Given the description of an element on the screen output the (x, y) to click on. 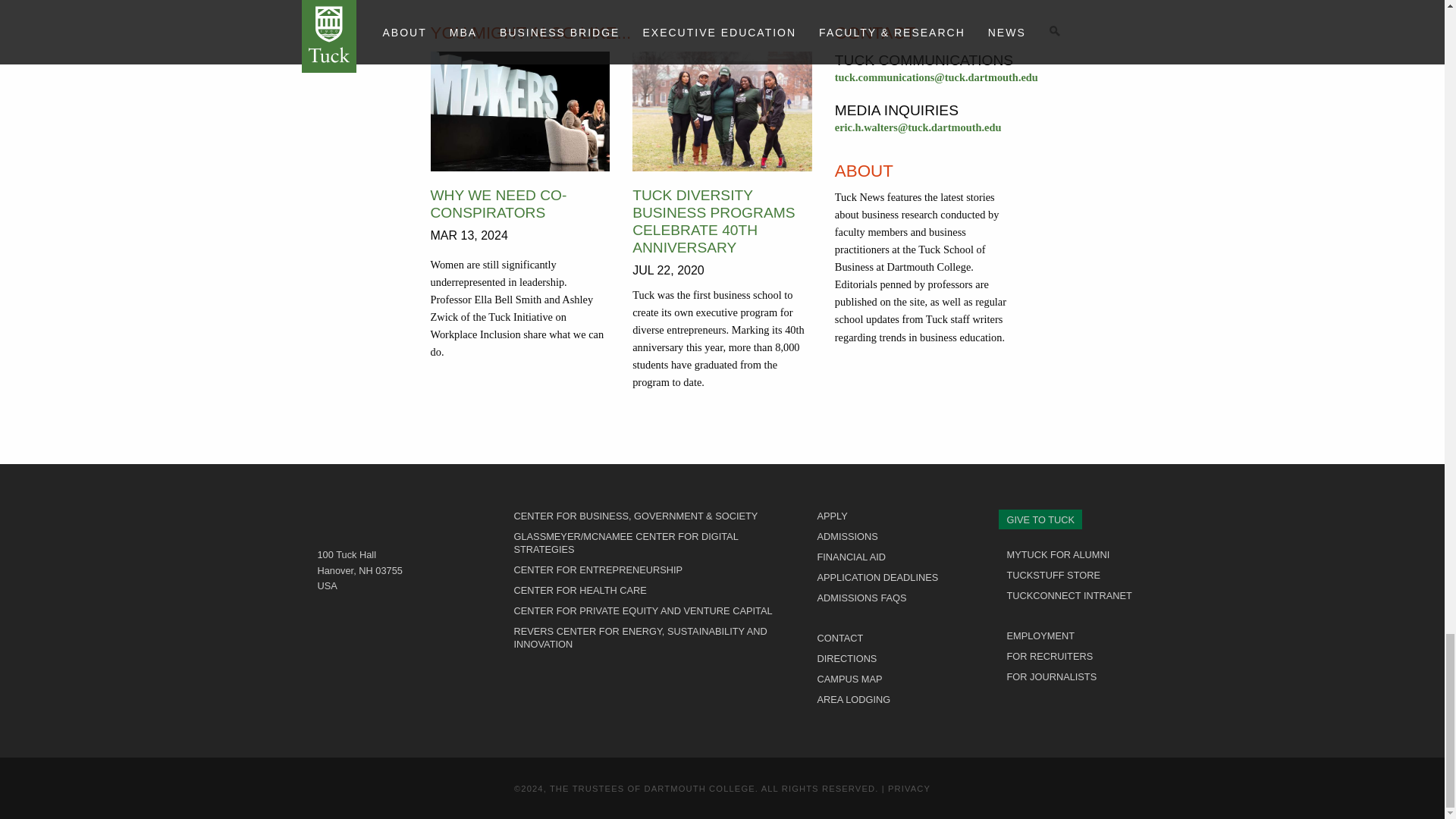
Visit our Instagram page (1032, 705)
Scroll up (721, 761)
Visit our YouTube page (1086, 705)
